Given the description of an element on the screen output the (x, y) to click on. 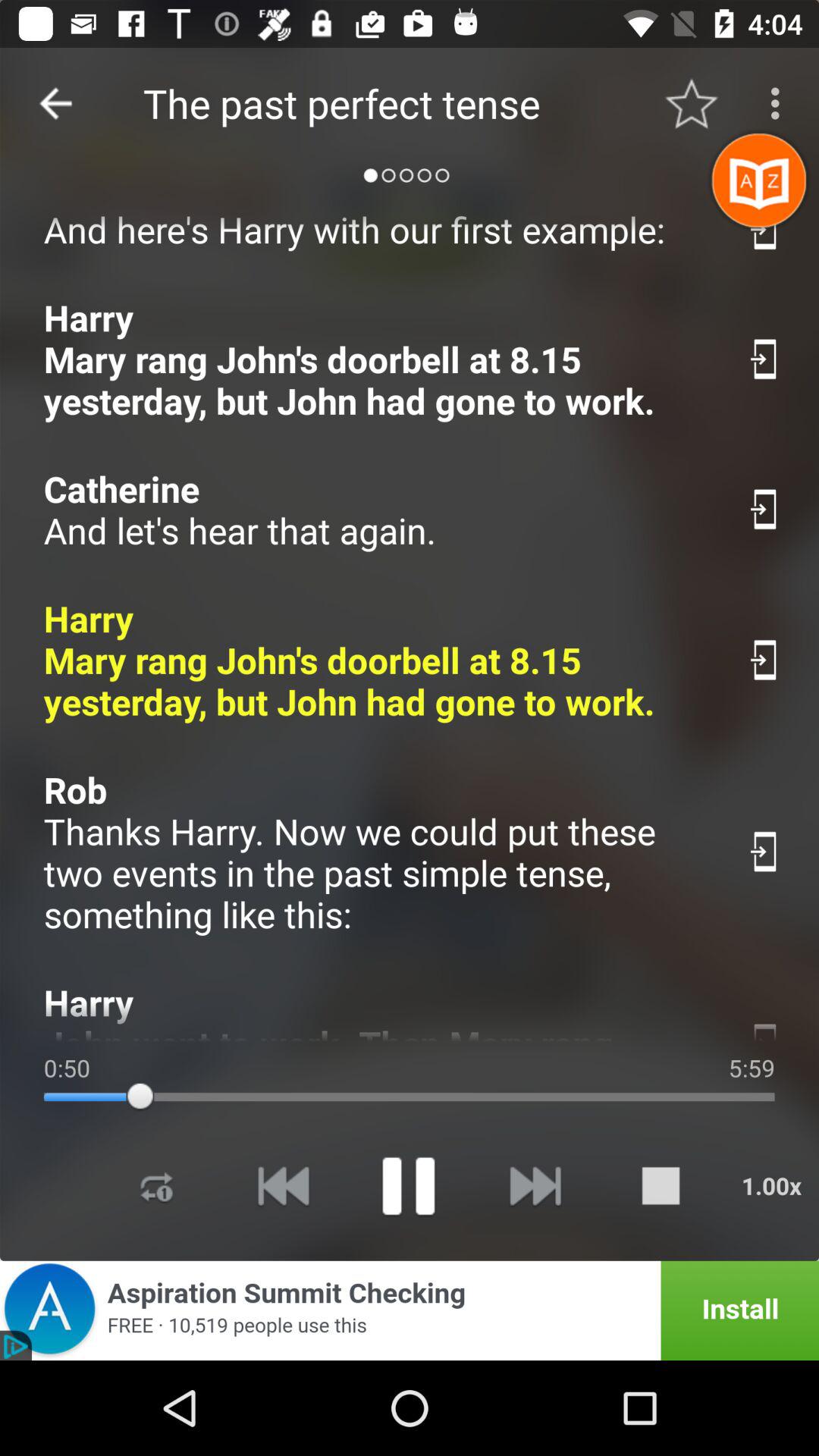
press rob thanks harry item (379, 851)
